Given the description of an element on the screen output the (x, y) to click on. 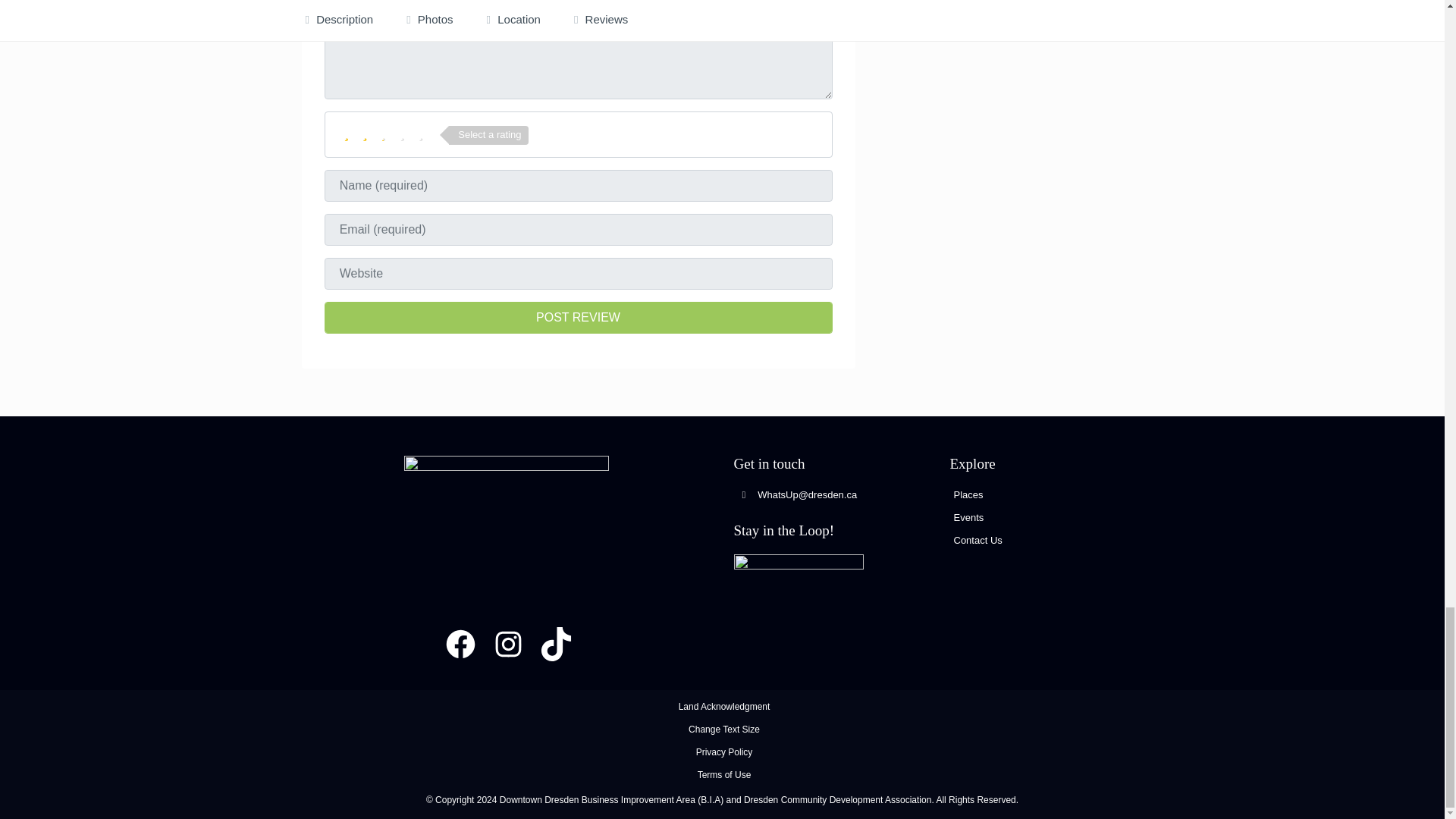
Terrible (345, 133)
Post Review (578, 317)
Post Review (578, 317)
